Given the description of an element on the screen output the (x, y) to click on. 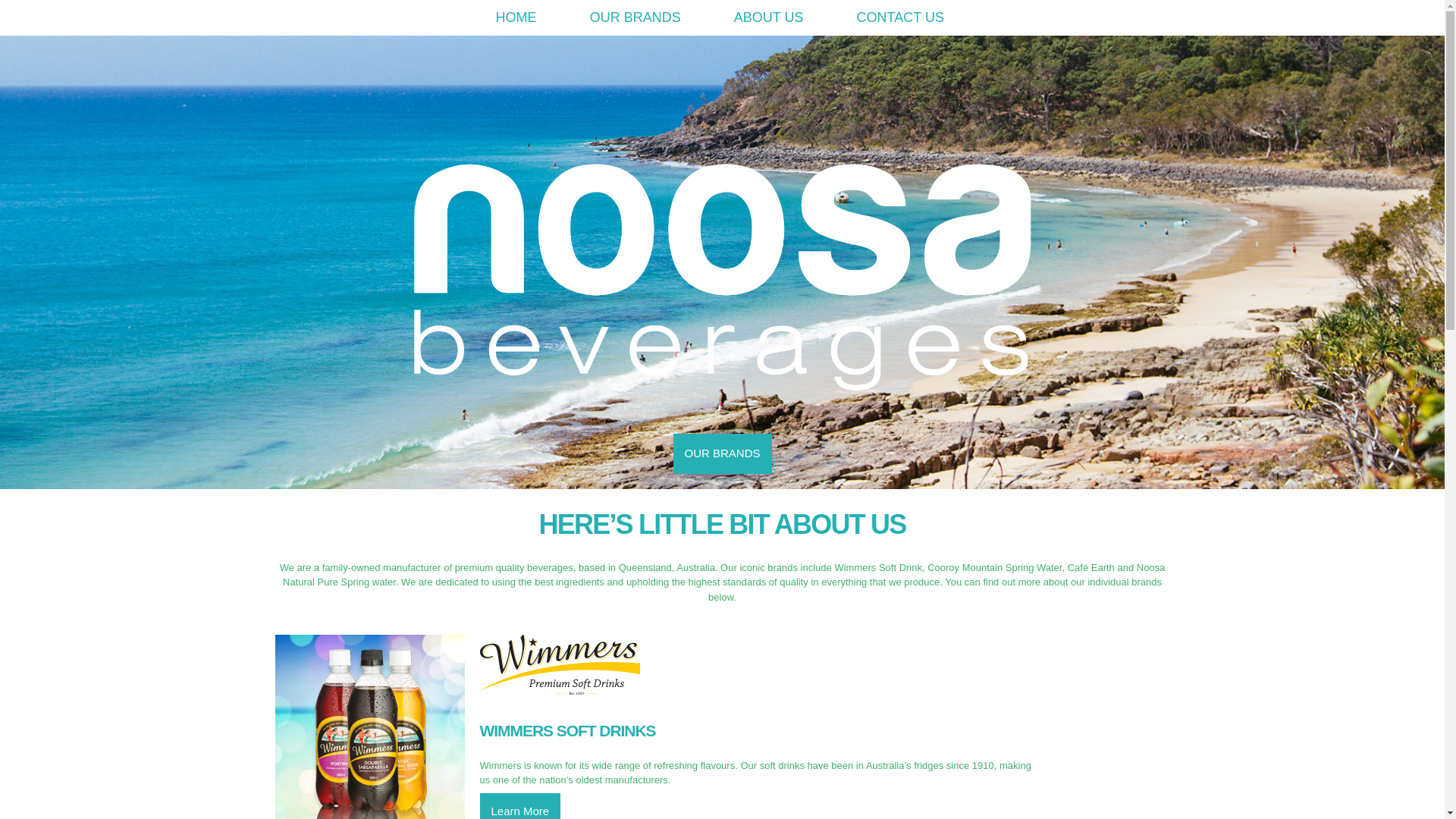
OUR BRANDS Element type: text (722, 453)
Skip to main content Element type: text (694, 1)
